Given the description of an element on the screen output the (x, y) to click on. 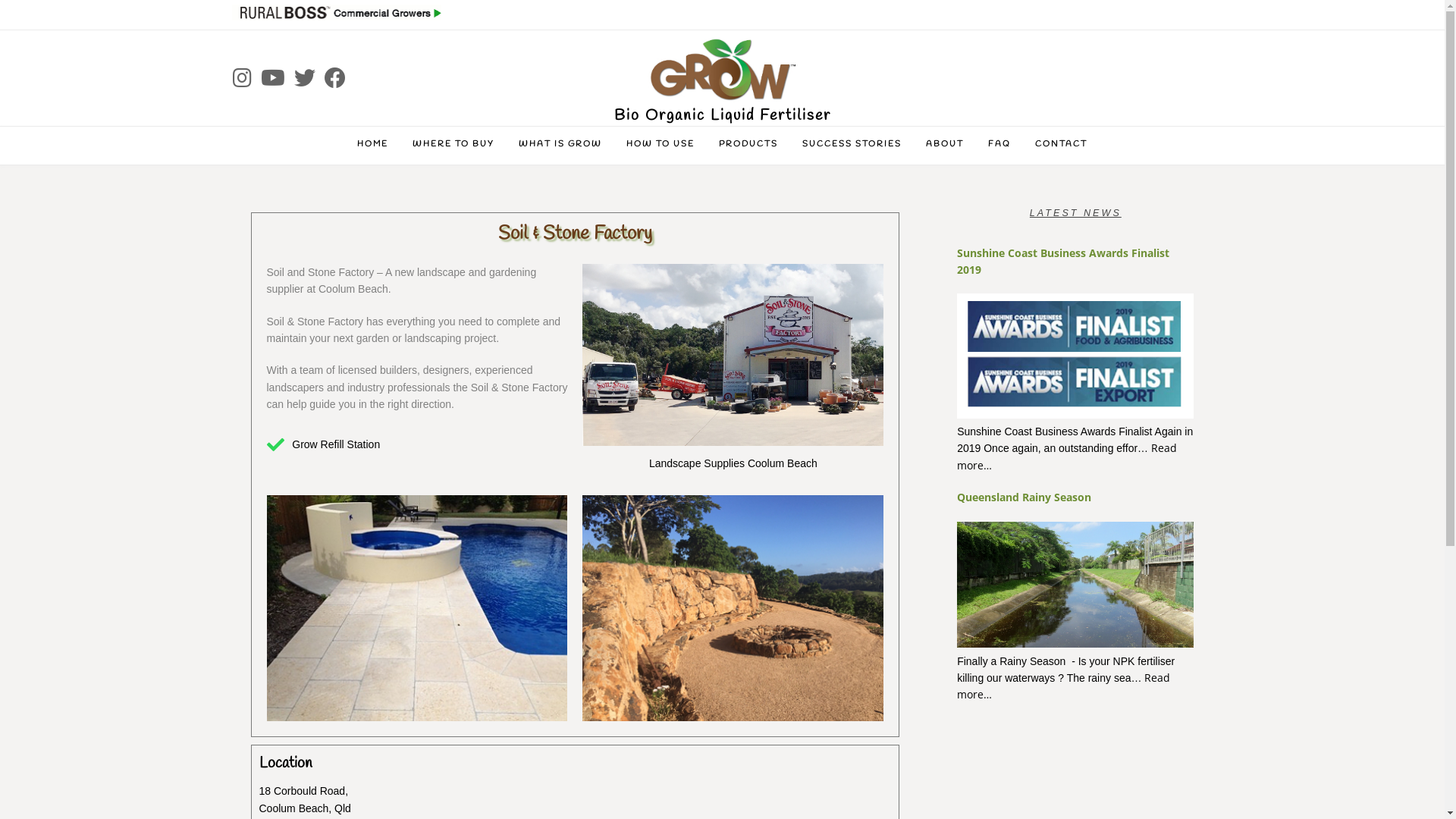
PRODUCTS Element type: text (748, 145)
CONTACT Element type: text (1060, 145)
ABOUT Element type: text (944, 145)
HOME Element type: text (372, 145)
FAQ Element type: text (998, 145)
Follow Us on Instagram Element type: hover (241, 78)
HOW TO USE Element type: text (660, 145)
WHAT IS GROW Element type: text (560, 145)
Sunshine Coast Business Awards Finalist 2019 Element type: text (1063, 260)
SUCCESS STORIES Element type: text (851, 145)
WHERE TO BUY Element type: text (453, 145)
Find Us on Facebook Element type: hover (335, 78)
View our YouTube Channel Element type: hover (272, 78)
Follow Us on Twitter Element type: hover (304, 78)
Queensland Rainy Season Element type: text (1024, 496)
